Given the description of an element on the screen output the (x, y) to click on. 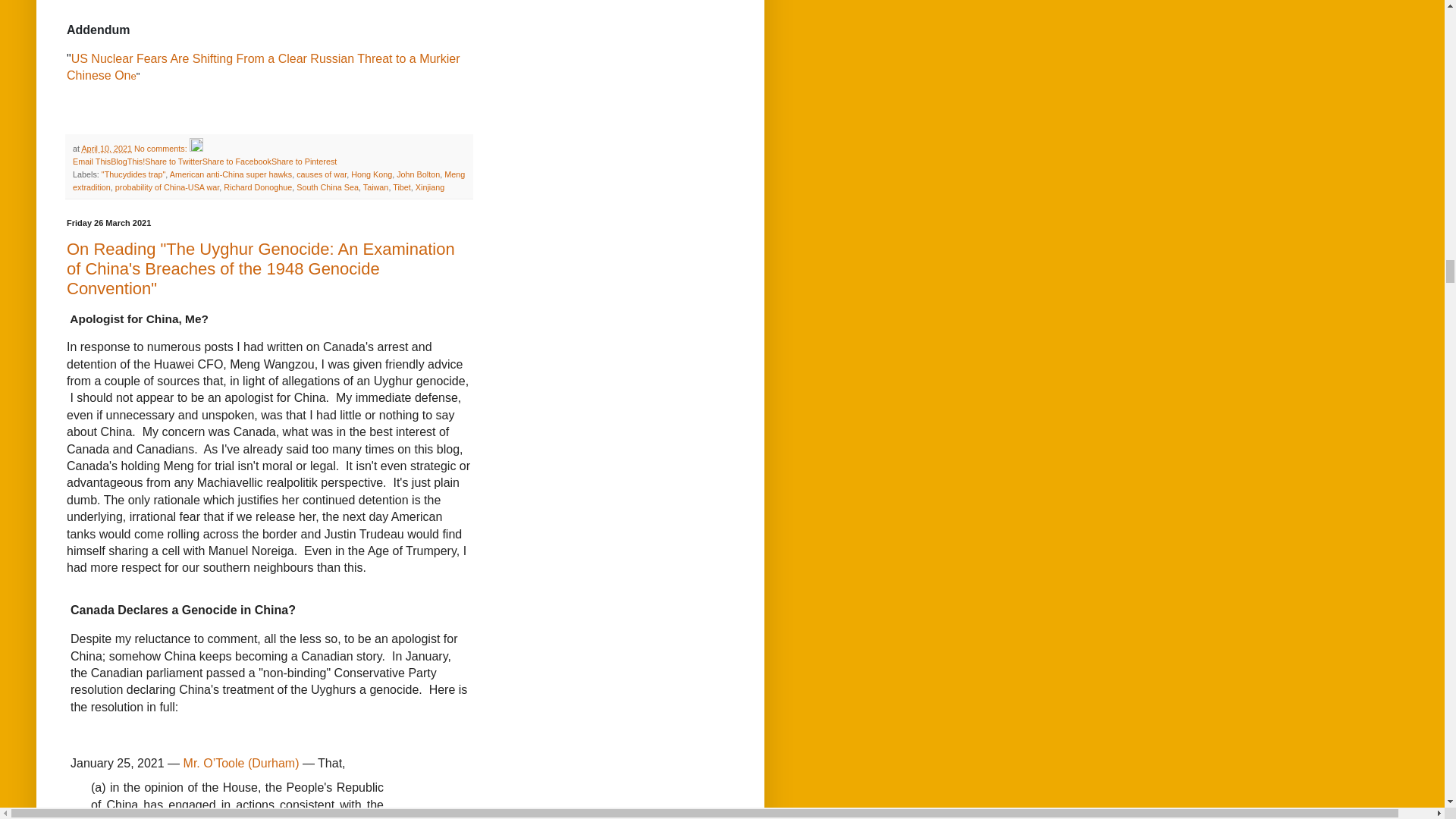
BlogThis! (127, 161)
Share to Pinterest (303, 161)
permanent link (106, 148)
Email This (91, 161)
Share to Twitter (173, 161)
Share to Facebook (236, 161)
Edit Post (196, 148)
